Given the description of an element on the screen output the (x, y) to click on. 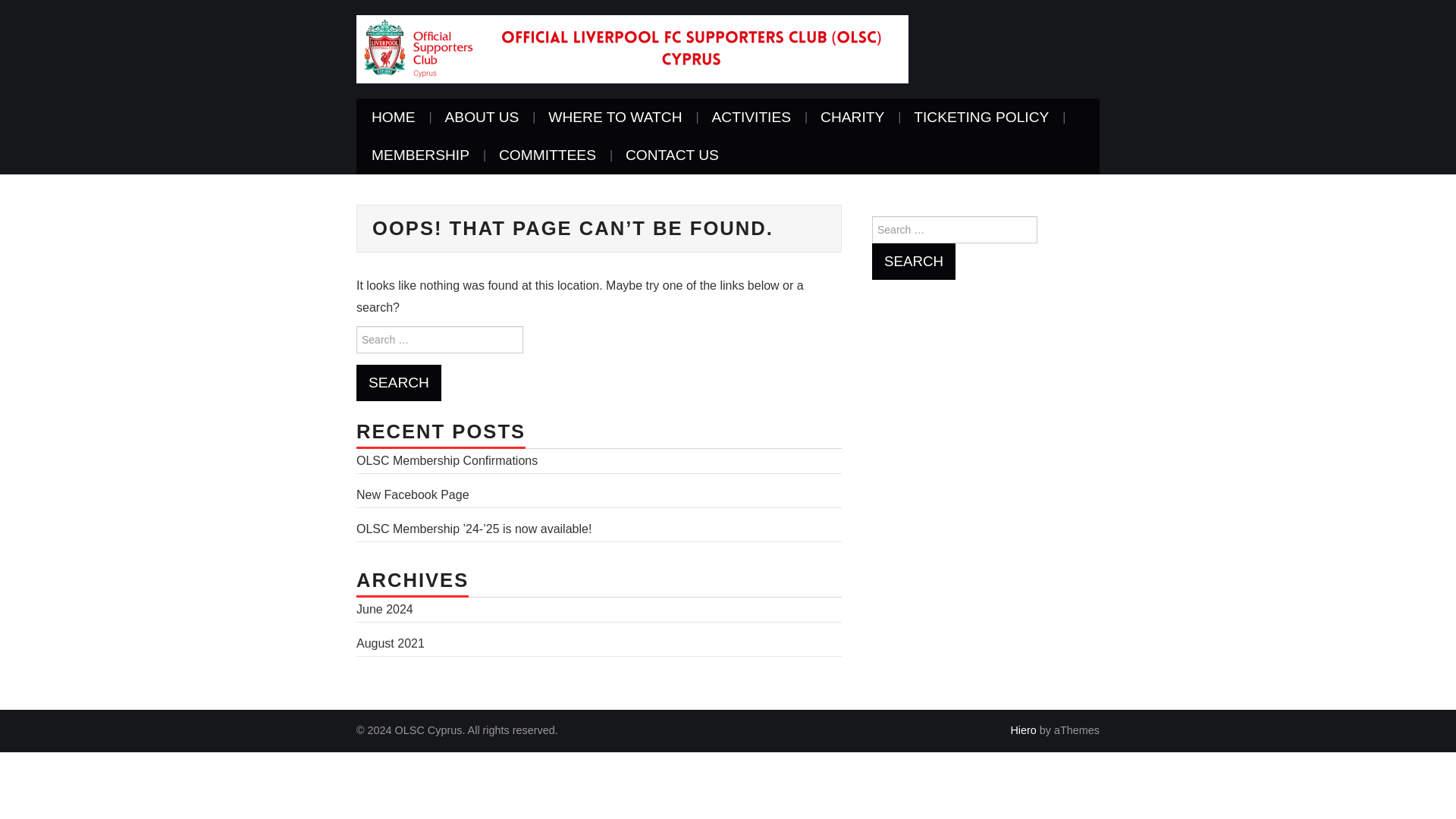
Search (398, 382)
Search (913, 261)
Search (913, 261)
ABOUT US (481, 117)
OLSC Cyprus (632, 47)
Search for: (954, 229)
OLSC Membership Confirmations (446, 460)
Search for: (439, 338)
TICKETING POLICY (981, 117)
COMMITTEES (547, 155)
June 2024 (384, 608)
WHERE TO WATCH (614, 117)
HOME (393, 117)
Search (398, 382)
New Facebook Page (412, 494)
